Given the description of an element on the screen output the (x, y) to click on. 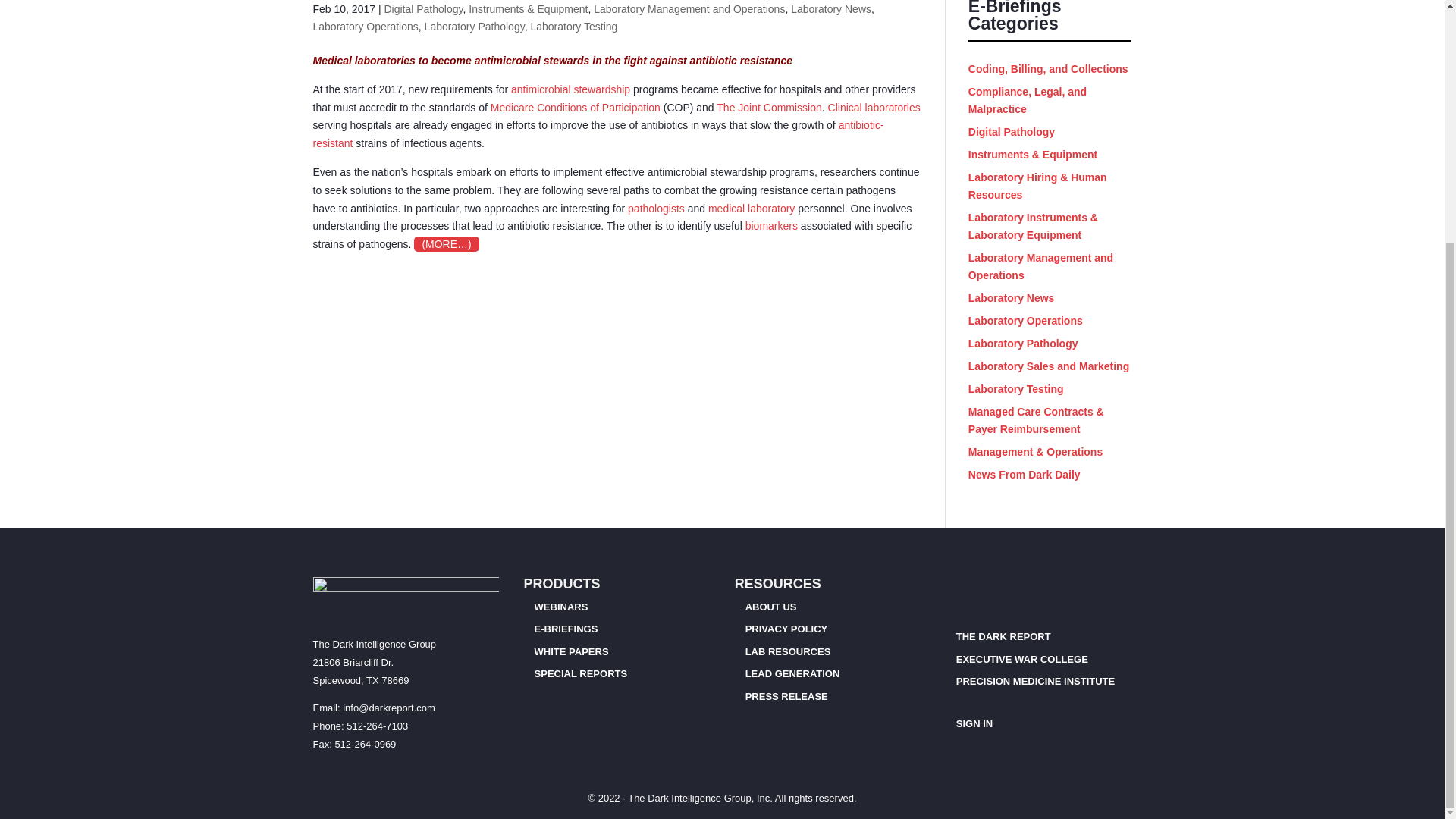
Laboratory Management and Operations (689, 9)
antimicrobial stewardship (570, 89)
Laboratory Pathology (474, 26)
Laboratory News (830, 9)
Laboratory Operations (365, 26)
Digital Pathology (423, 9)
Laboratory Testing (573, 26)
